Given the description of an element on the screen output the (x, y) to click on. 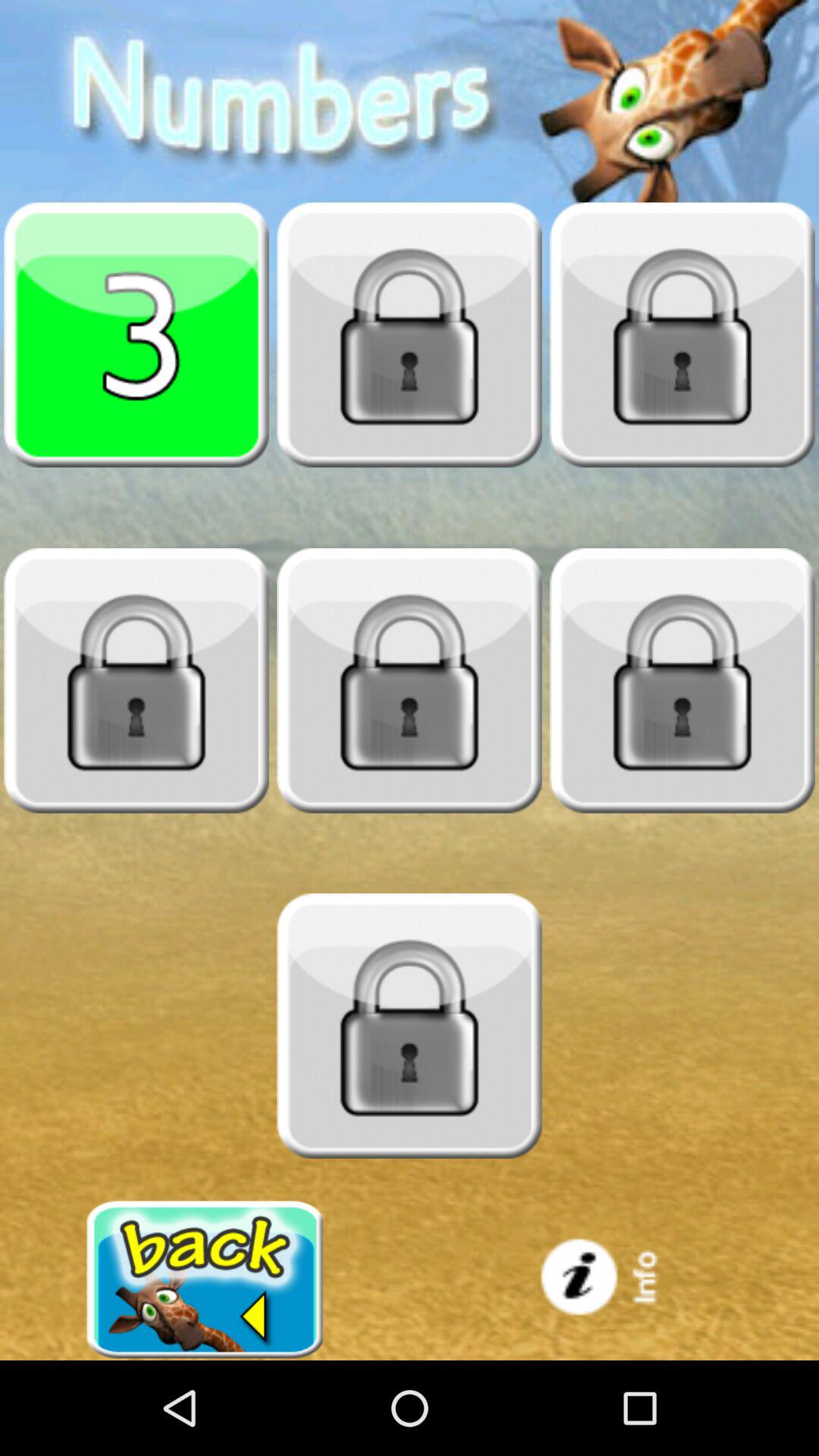
touch locked chapter (409, 680)
